Given the description of an element on the screen output the (x, y) to click on. 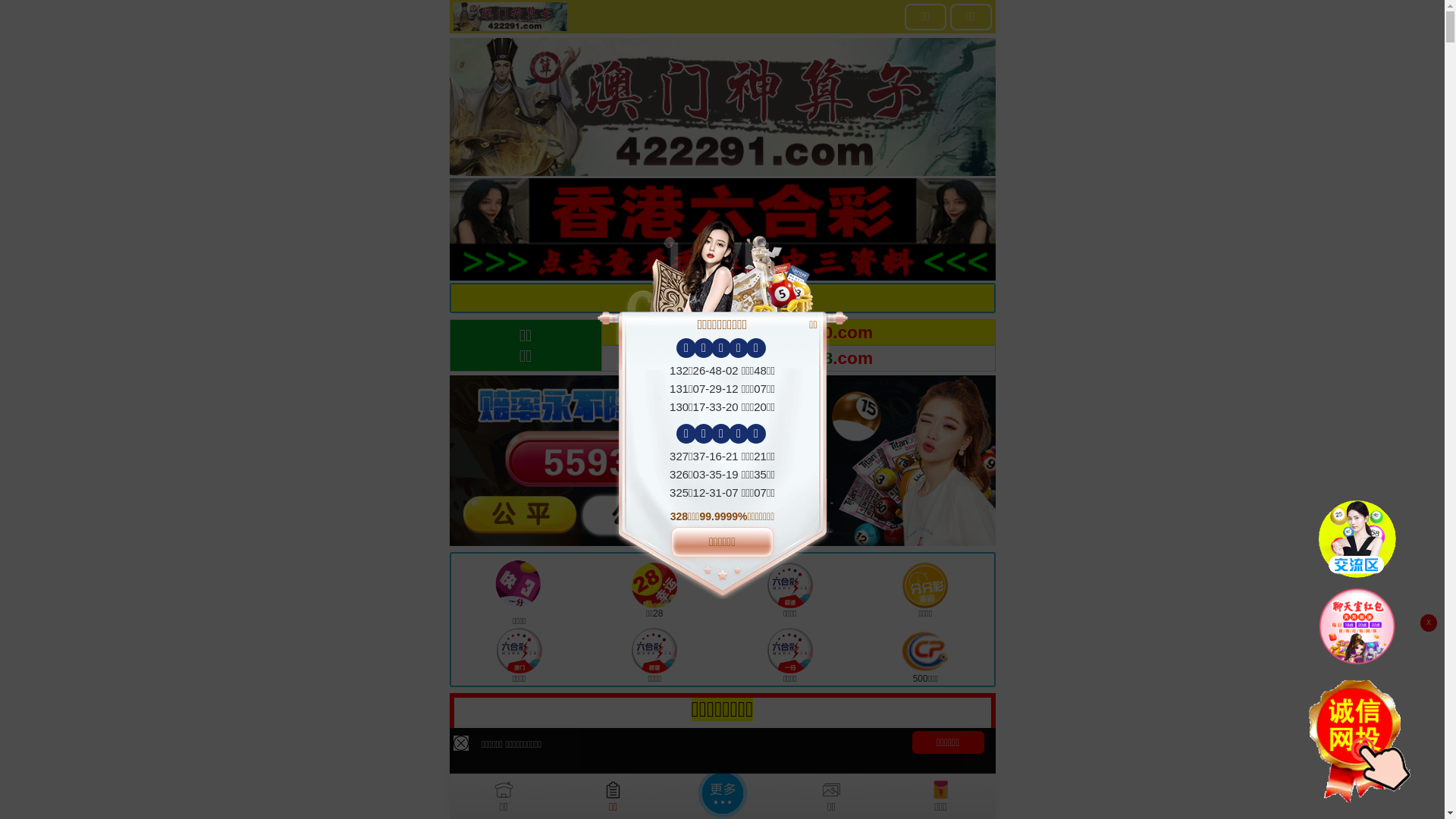
x Element type: text (1428, 622)
